Given the description of an element on the screen output the (x, y) to click on. 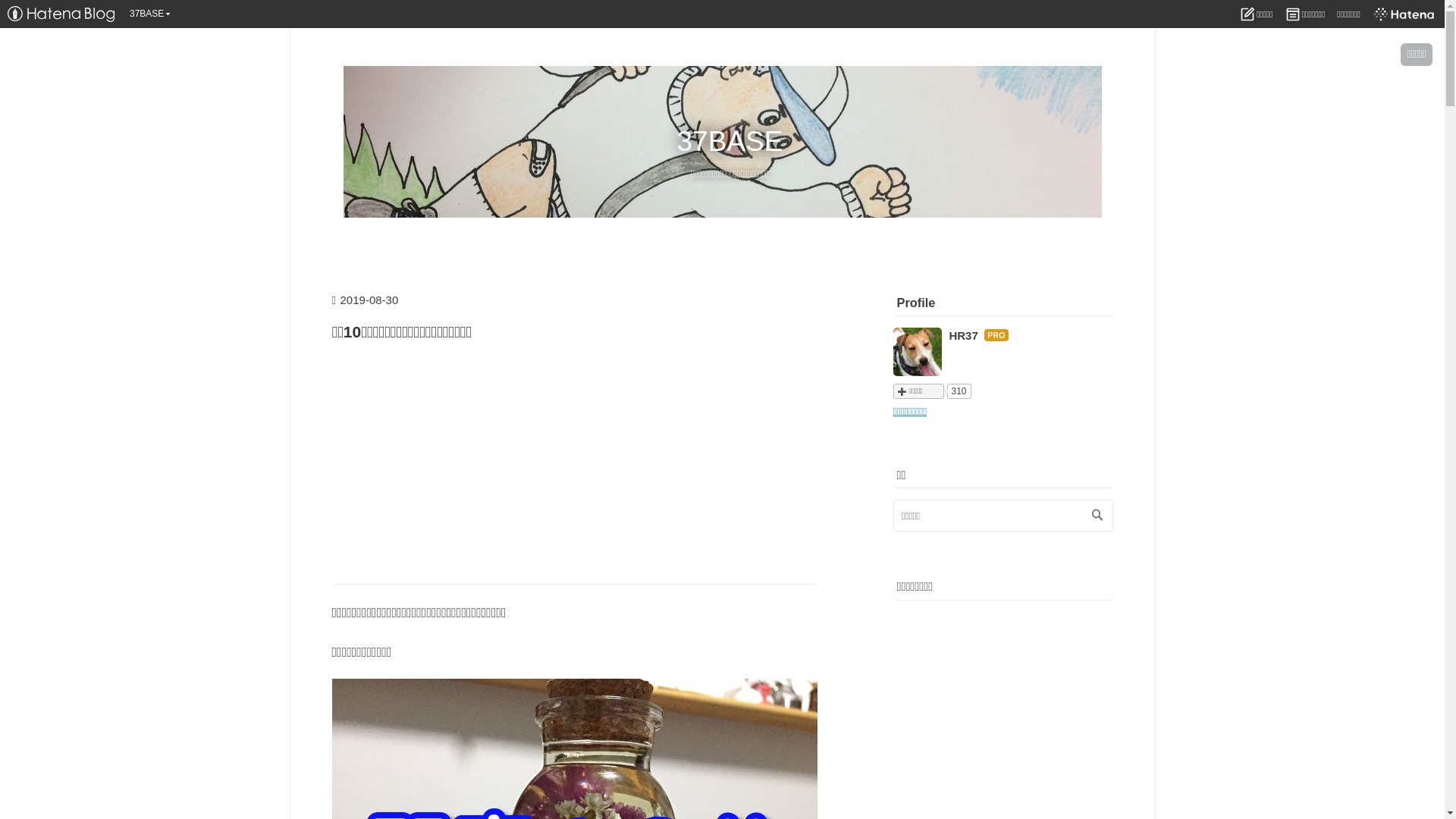
37BASE Element type: text (730, 140)
Advertisement Element type: hover (574, 466)
2019-08-30 Element type: text (369, 299)
HR37 Element type: text (963, 335)
